Given the description of an element on the screen output the (x, y) to click on. 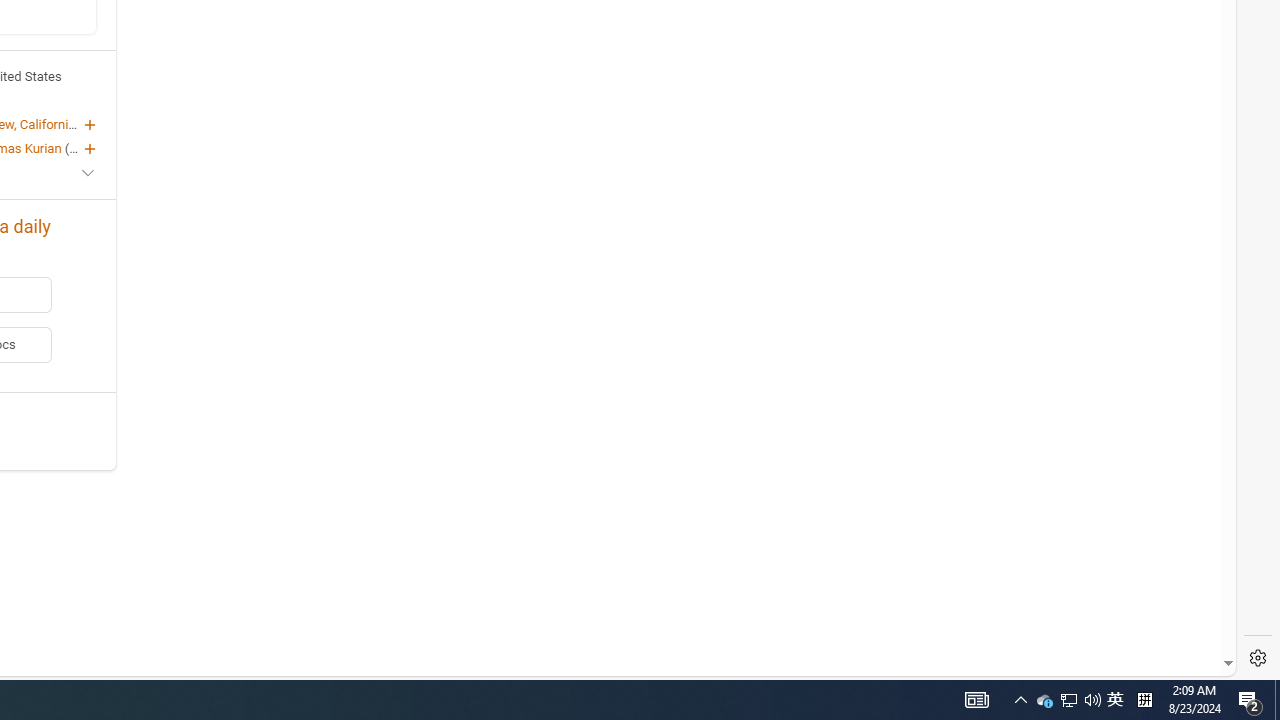
CEO (81, 147)
AutomationID: mfa_root (1153, 603)
Search more (1182, 604)
